Given the description of an element on the screen output the (x, y) to click on. 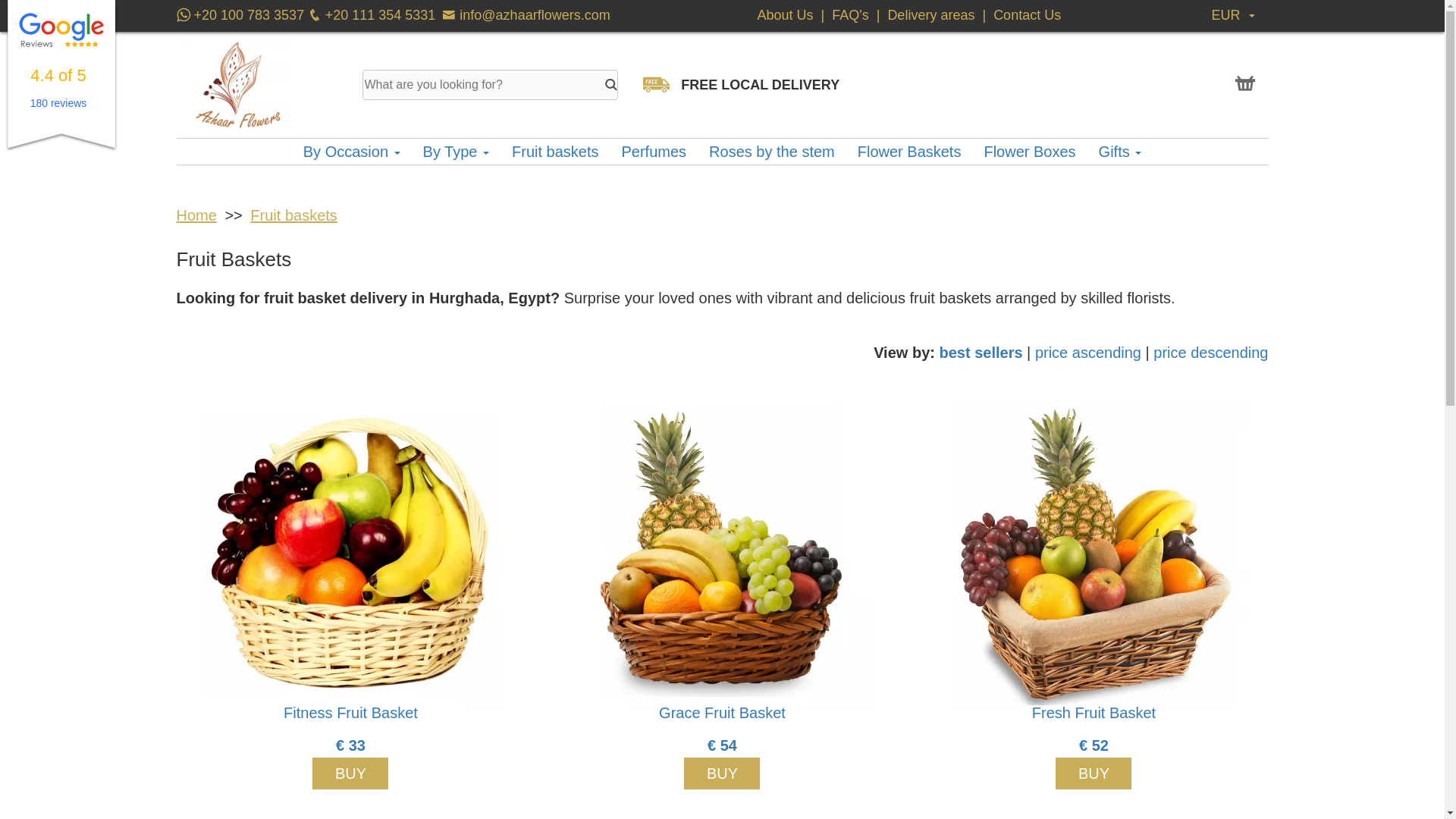
Fresh Fruit Basket (1093, 553)
FAQ's (851, 14)
Grace Fruit Basket (721, 553)
Contact Us (1026, 14)
About Us (786, 14)
Fitness Fruit Basket (350, 553)
Delivery areas (930, 14)
